Given the description of an element on the screen output the (x, y) to click on. 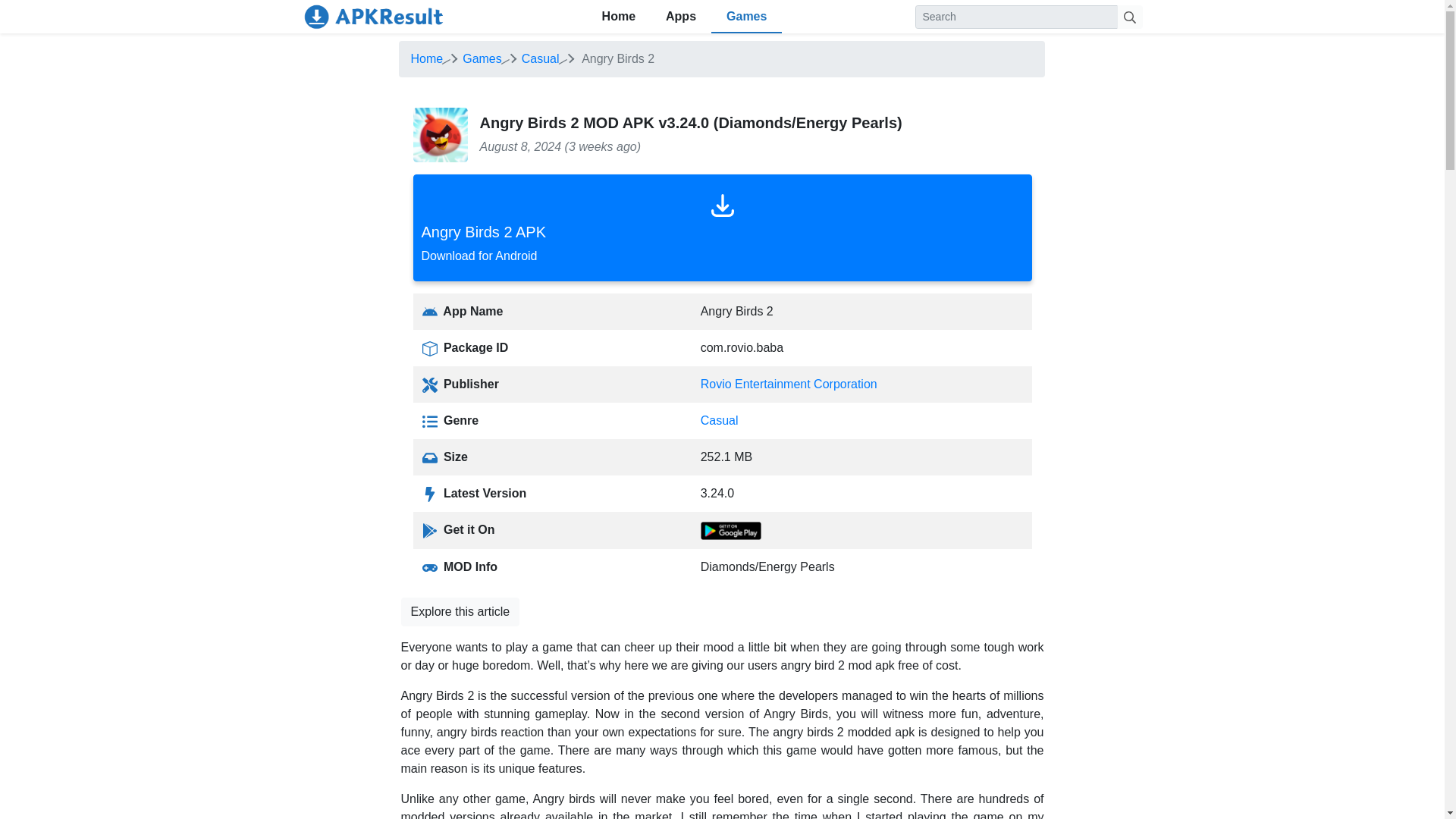
Rovio Entertainment Corporation (788, 383)
Apps (721, 227)
Home (680, 16)
Games (618, 16)
Home (746, 16)
Skip to content (427, 58)
Explore this article (719, 420)
Casual (459, 611)
